Given the description of an element on the screen output the (x, y) to click on. 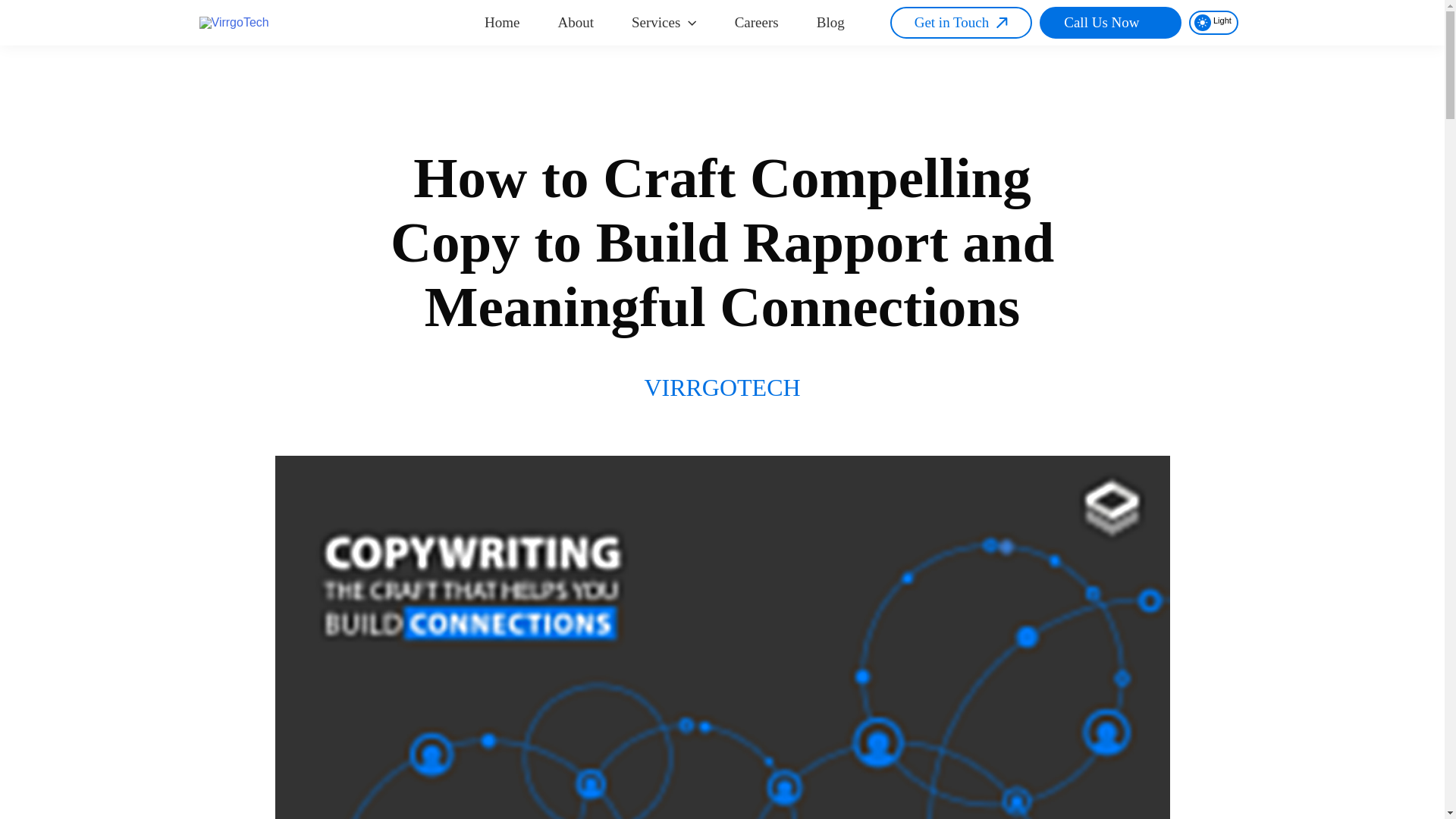
Services (664, 24)
Careers (756, 24)
Call Us Now (1109, 22)
Get in Touch (960, 22)
